Given the description of an element on the screen output the (x, y) to click on. 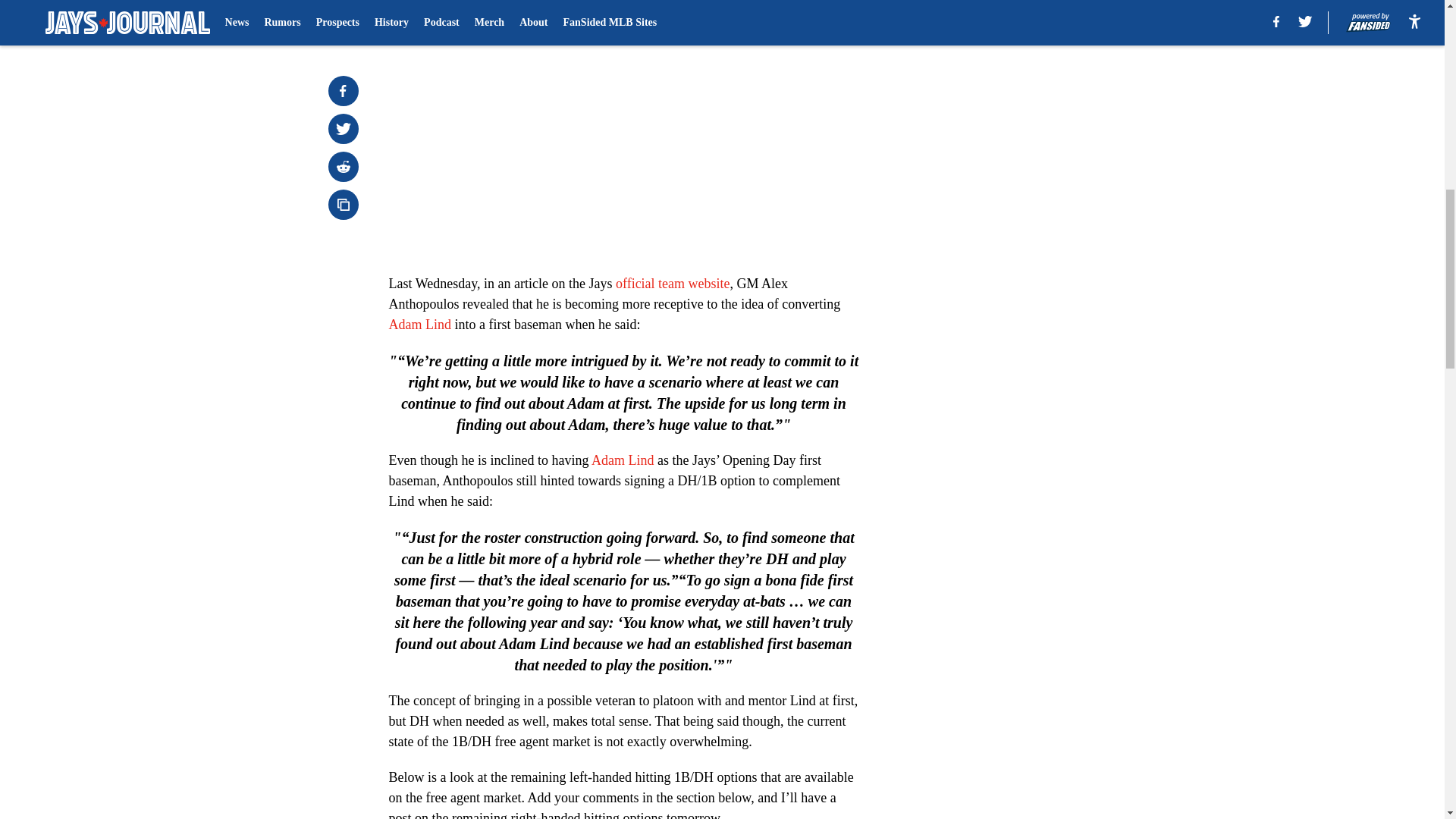
official team website (672, 283)
Adam Lind (419, 324)
Adam Lind (622, 459)
